Given the description of an element on the screen output the (x, y) to click on. 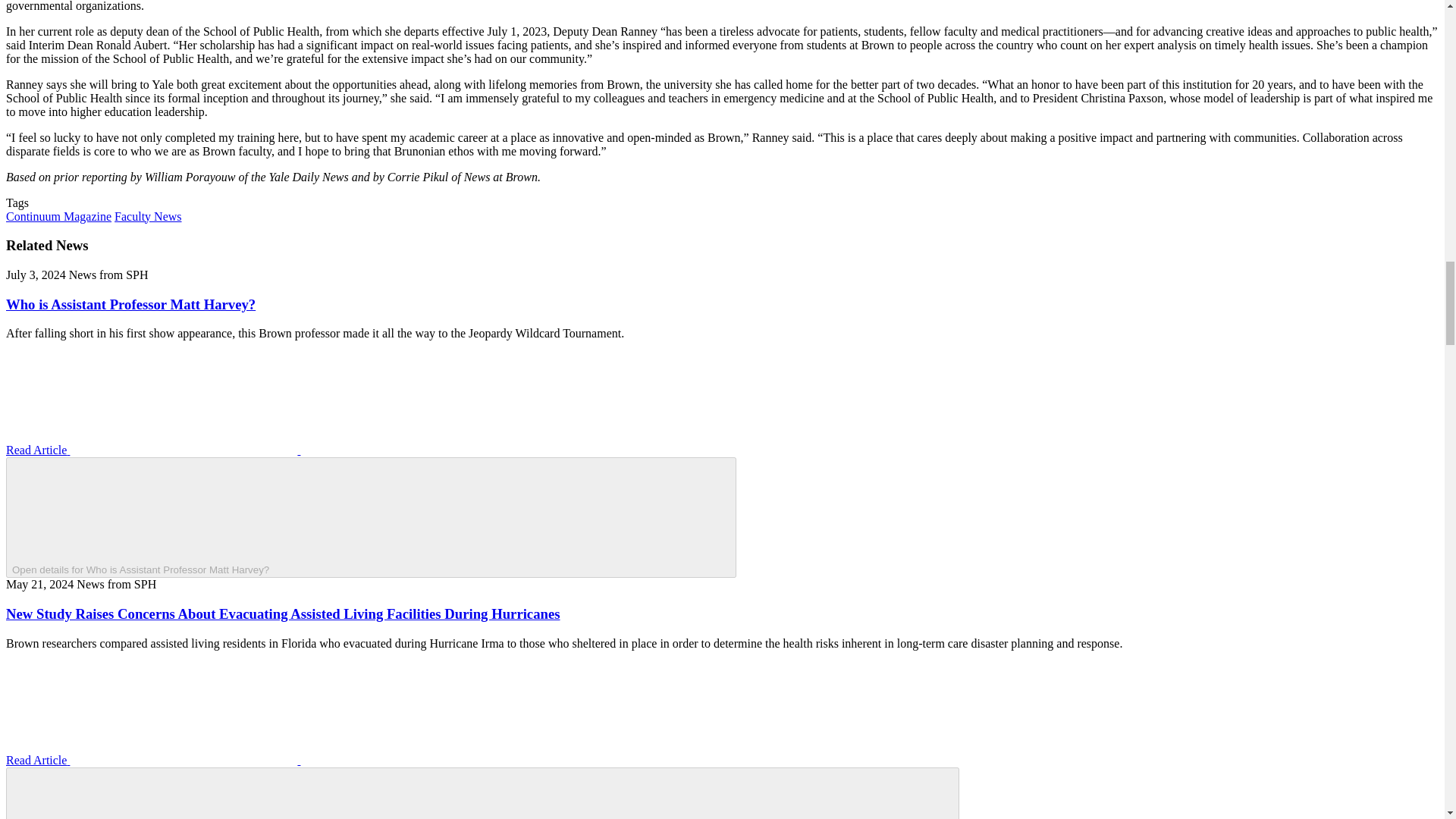
Open details for Who is Assistant Professor Matt Harvey? (370, 517)
